Given the description of an element on the screen output the (x, y) to click on. 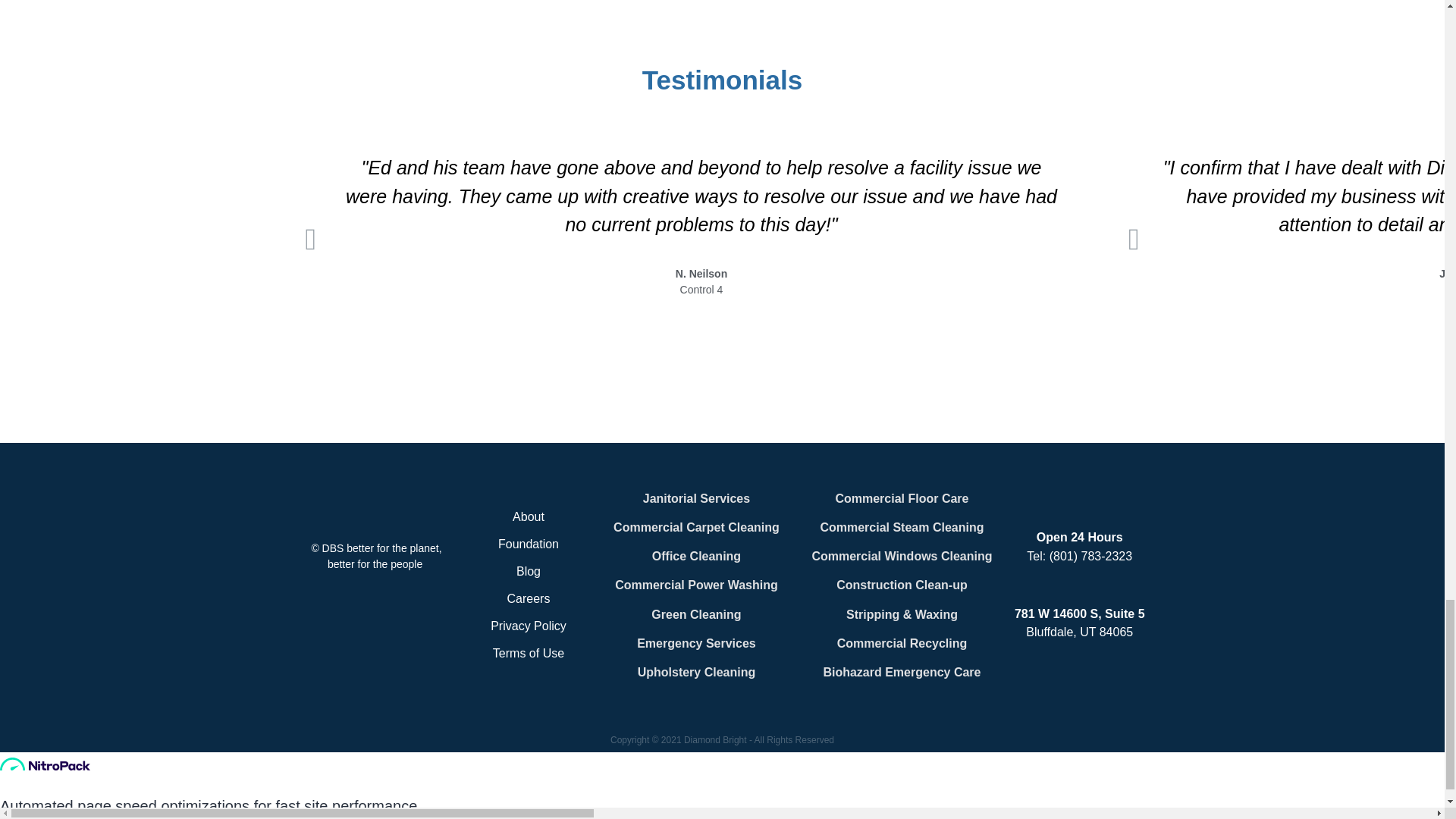
unnamed (376, 506)
